Given the description of an element on the screen output the (x, y) to click on. 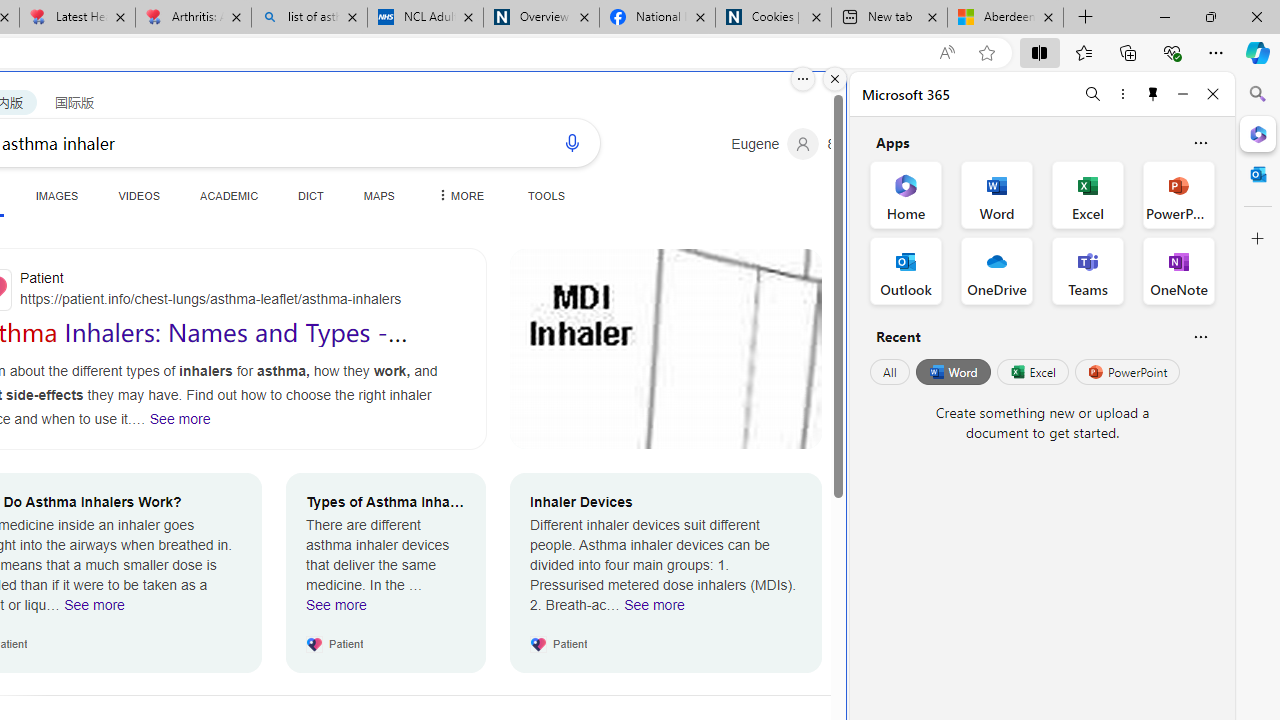
Word Office App (996, 194)
Excel (1031, 372)
PowerPoint Office App (1178, 194)
ACADEMIC (229, 195)
DICT (310, 195)
Close split screen. (835, 79)
Microsoft Rewards 81 (856, 143)
Dropdown Menu (458, 195)
ACADEMIC (229, 195)
